Given the description of an element on the screen output the (x, y) to click on. 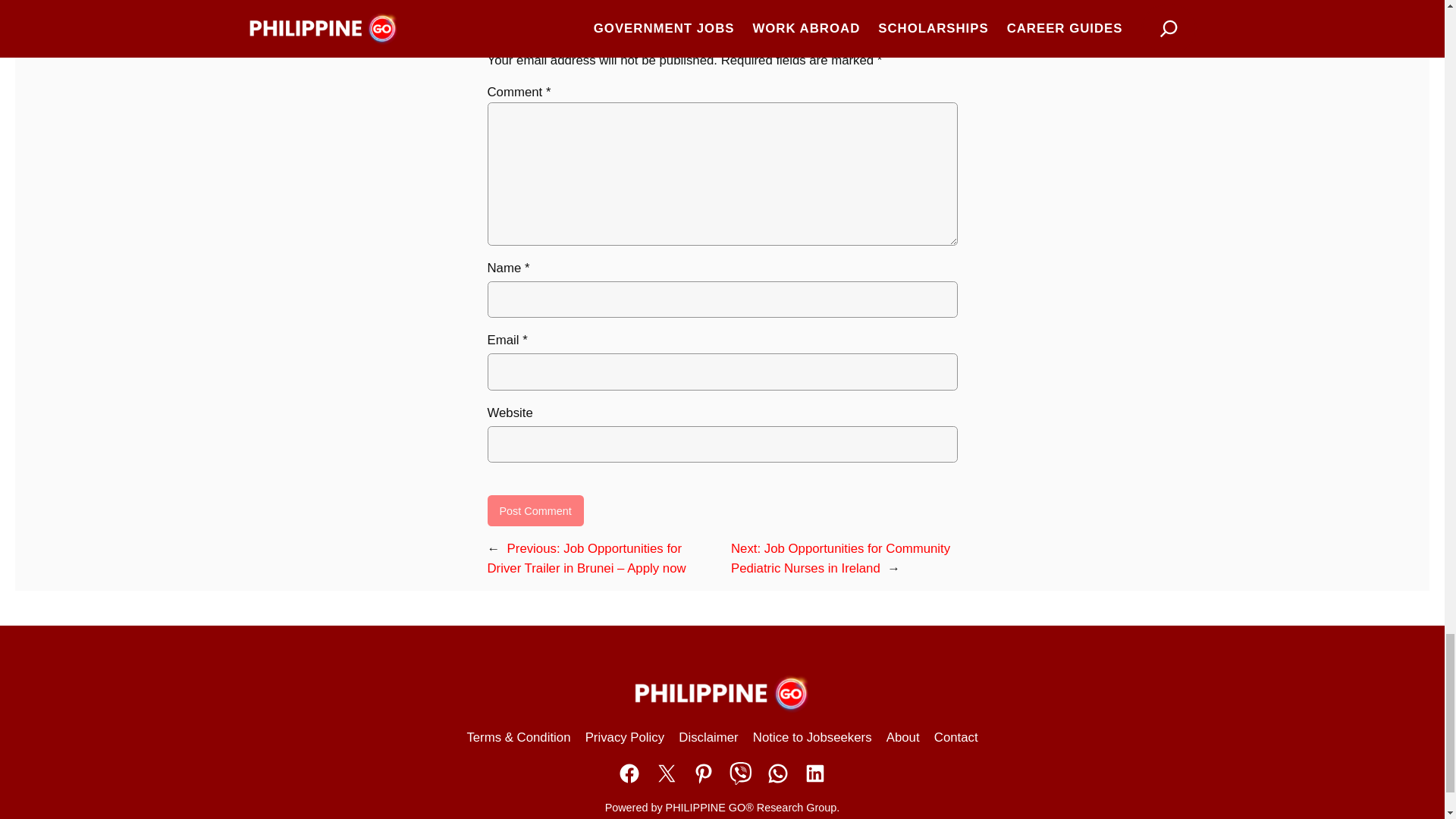
Privacy Policy (624, 737)
About (903, 737)
Share on X (666, 773)
Share on Pinterest (703, 773)
Share on LinkedIn (815, 773)
Post Comment (534, 511)
Post Comment (534, 511)
Share on Facebook (628, 773)
Disclaimer (708, 737)
Contact (956, 737)
Share on Viber (740, 773)
Notice to Jobseekers (812, 737)
Share on WhatsApp (778, 773)
